Given the description of an element on the screen output the (x, y) to click on. 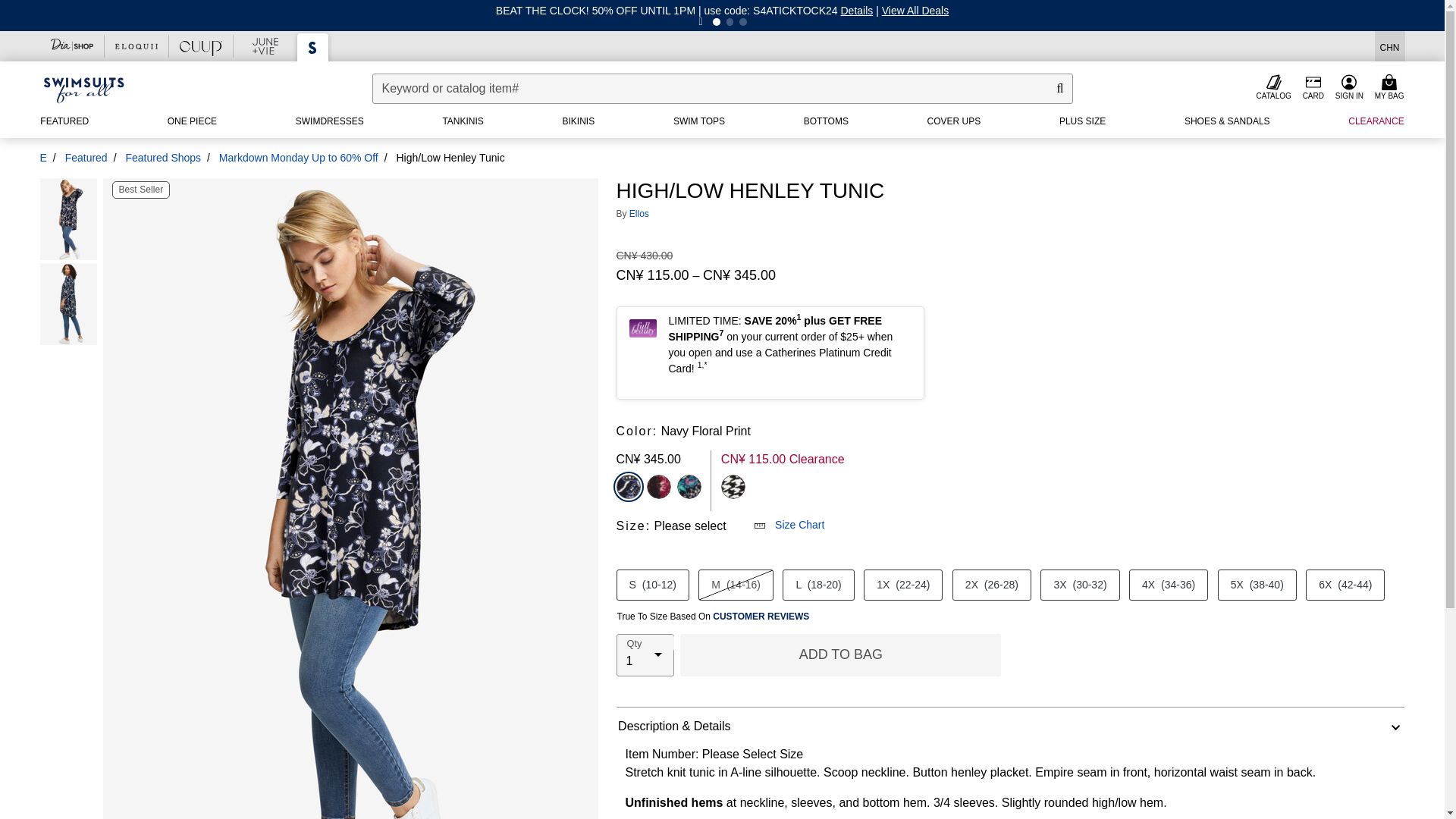
MY BAG (1390, 87)
Go to Featured Shops (162, 157)
Go to Featured (86, 157)
Swimsuits For All Home (83, 88)
use code: S4ATICKTOCK24 Details (789, 10)
CATALOG (1273, 87)
CUUP (200, 45)
CARD (1313, 87)
Swimsuits For All (311, 47)
View All Deals (915, 10)
ELOQUII (136, 46)
SIGN IN (1348, 87)
Go to E (42, 157)
Cart 0 Items (1390, 87)
Best Seller (141, 189)
